Given the description of an element on the screen output the (x, y) to click on. 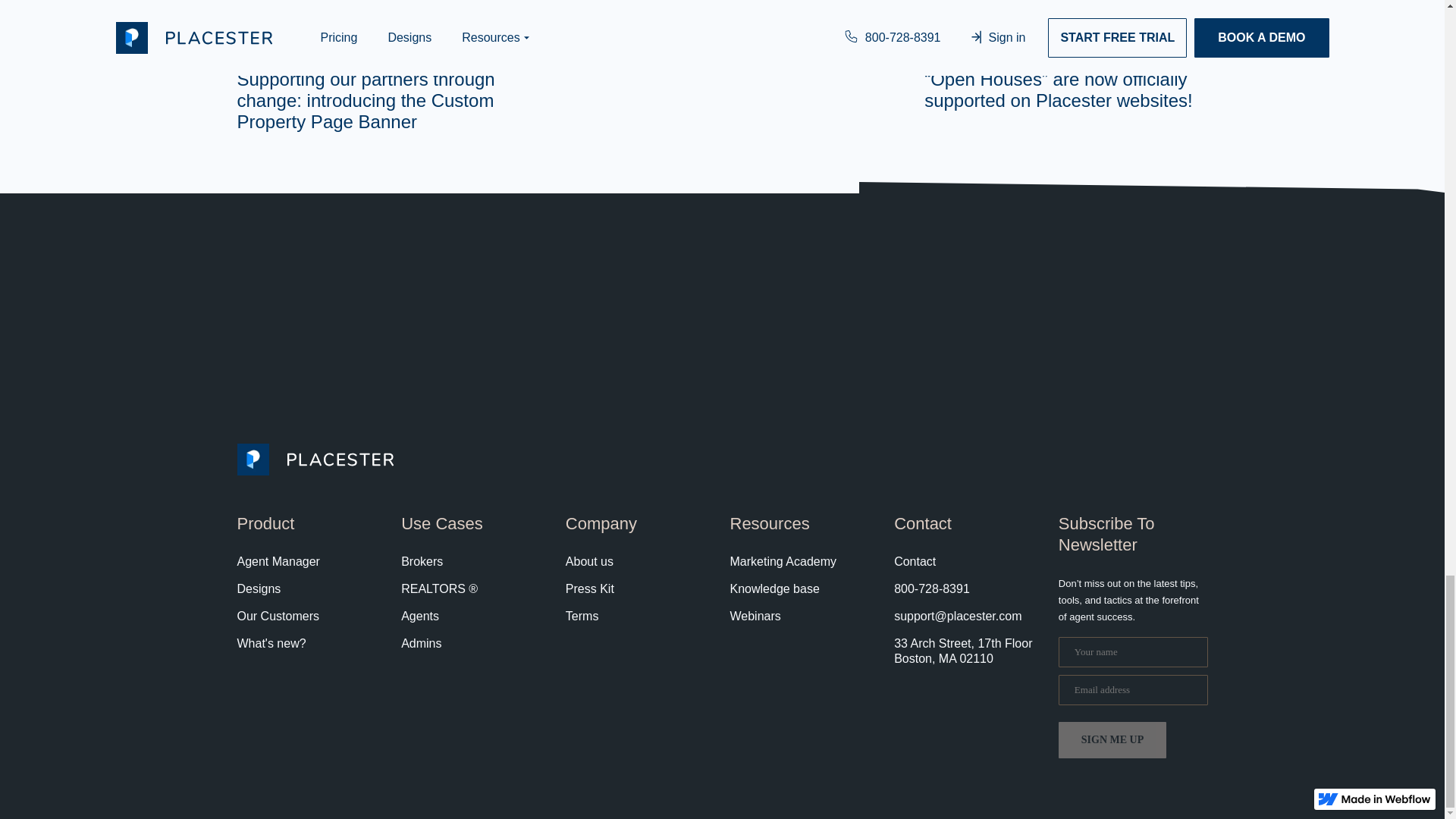
Present Your Listings Dynamically with the New Map Search (721, 20)
Agent Manager (276, 561)
Designs (258, 589)
